Given the description of an element on the screen output the (x, y) to click on. 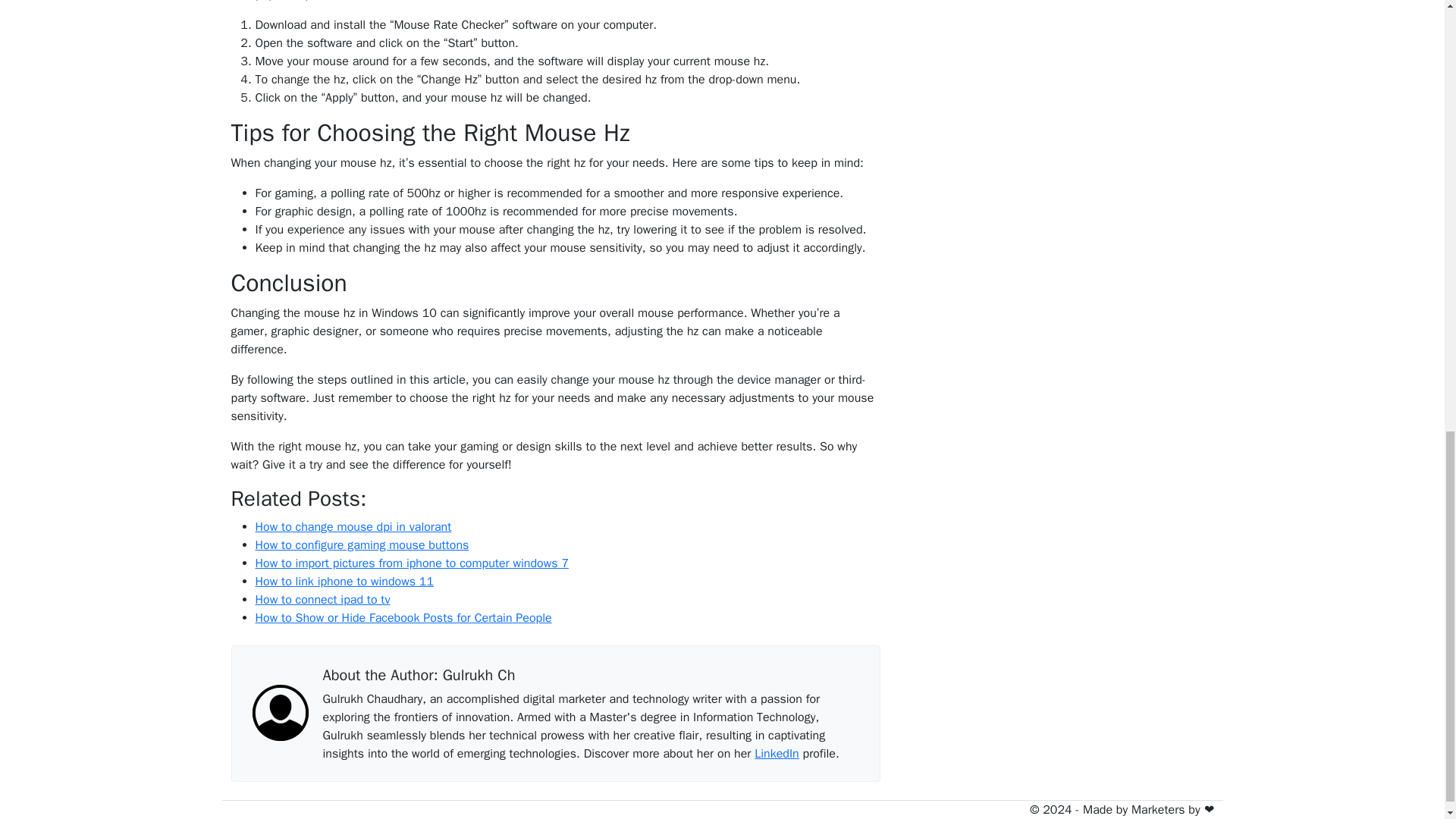
How to change mouse dpi in valorant (352, 526)
How to link iphone to windows 11 (343, 581)
How to import pictures from iphone to computer windows 7 (410, 563)
How to connect ipad to tv (322, 599)
How to configure gaming mouse buttons (361, 544)
LinkedIn (775, 753)
How to Show or Hide Facebook Posts for Certain People (402, 617)
